Given the description of an element on the screen output the (x, y) to click on. 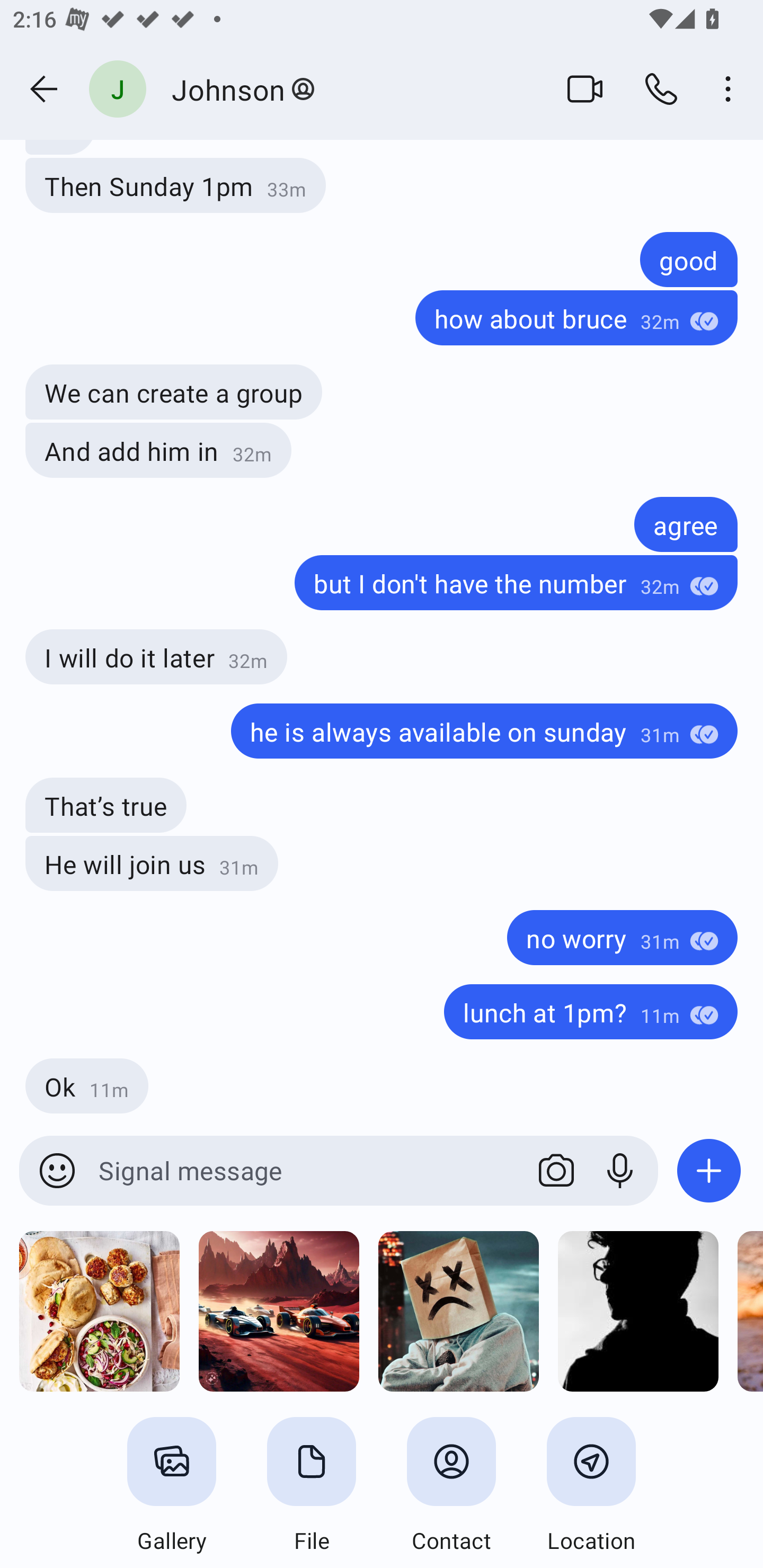
File (311, 1486)
